Given the description of an element on the screen output the (x, y) to click on. 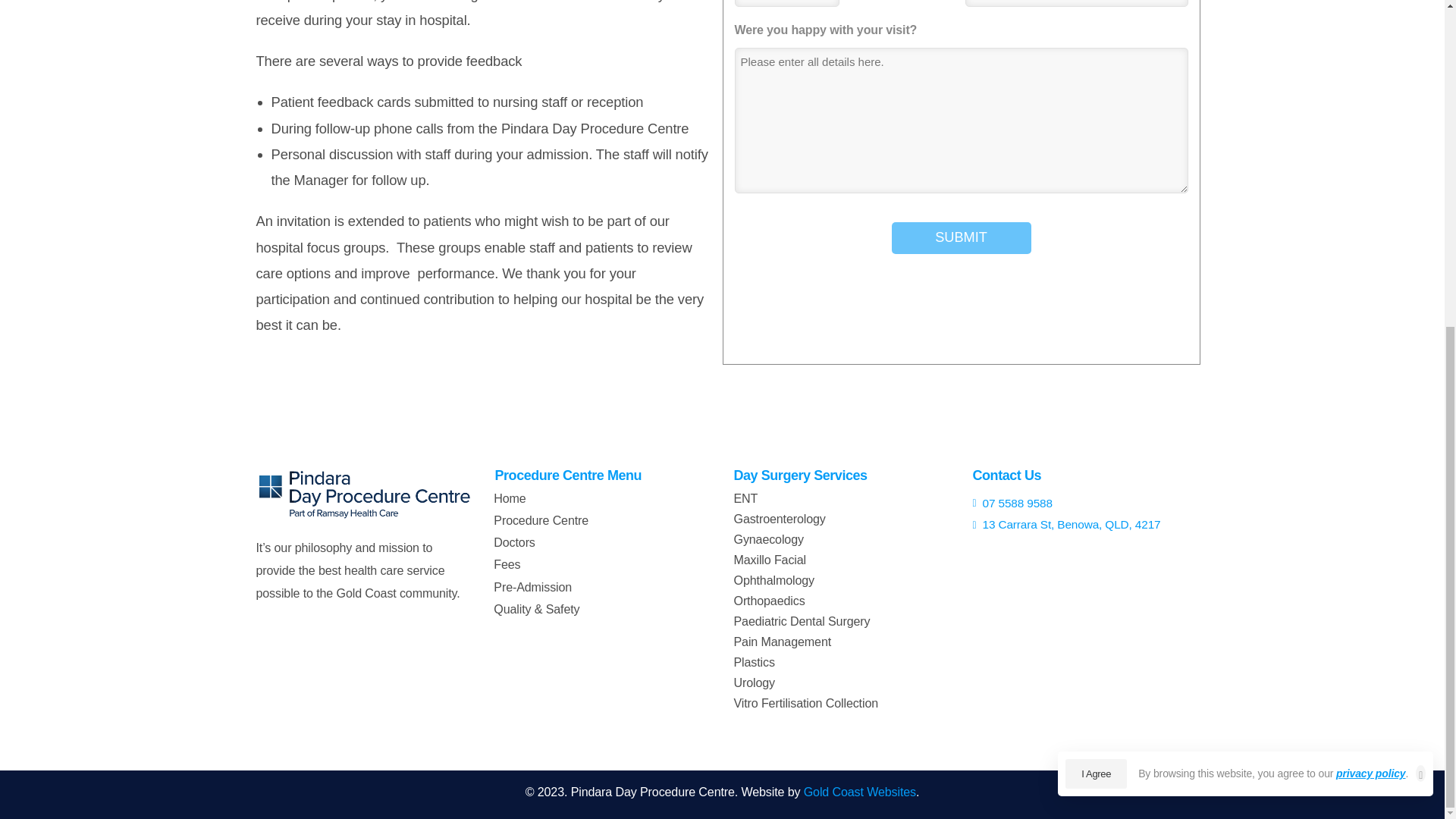
Gynaecology (768, 539)
Home (550, 498)
Gastroenterology (779, 518)
Plastics (753, 662)
07 5588 9588 (1080, 504)
Vitro Fertilisation Collection (806, 703)
Pre-Admission (550, 586)
Maxillo Facial (769, 559)
Fees (550, 564)
Submit (960, 237)
Contact Us (1006, 475)
Urology (753, 682)
Doctors (550, 542)
Submit (960, 237)
Procedure Centre (550, 520)
